Given the description of an element on the screen output the (x, y) to click on. 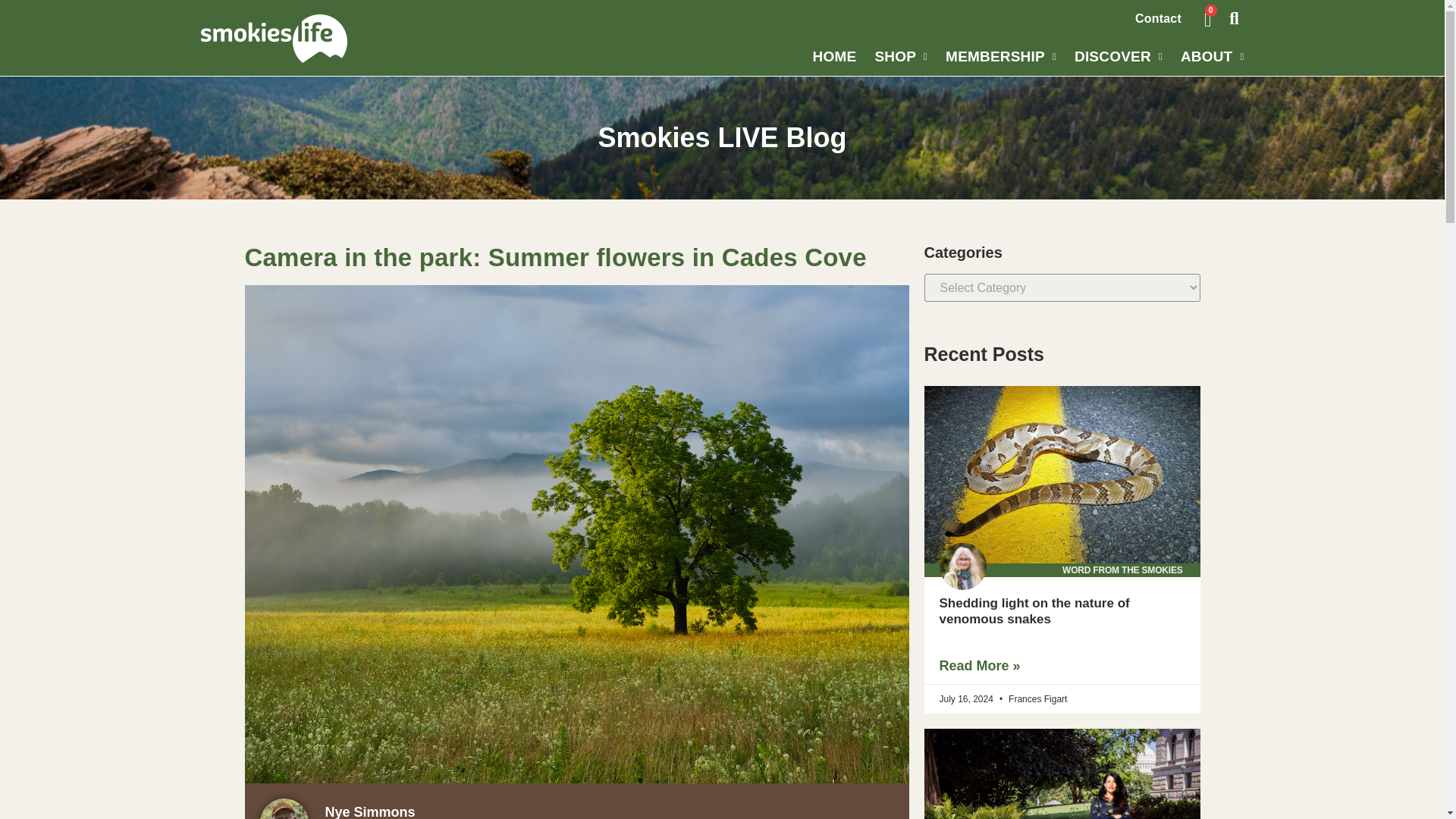
DISCOVER (1118, 56)
HOME (834, 56)
ABOUT (1212, 56)
Contact (1157, 18)
SHOP (900, 56)
MEMBERSHIP (1000, 56)
0 (1207, 19)
